Given the description of an element on the screen output the (x, y) to click on. 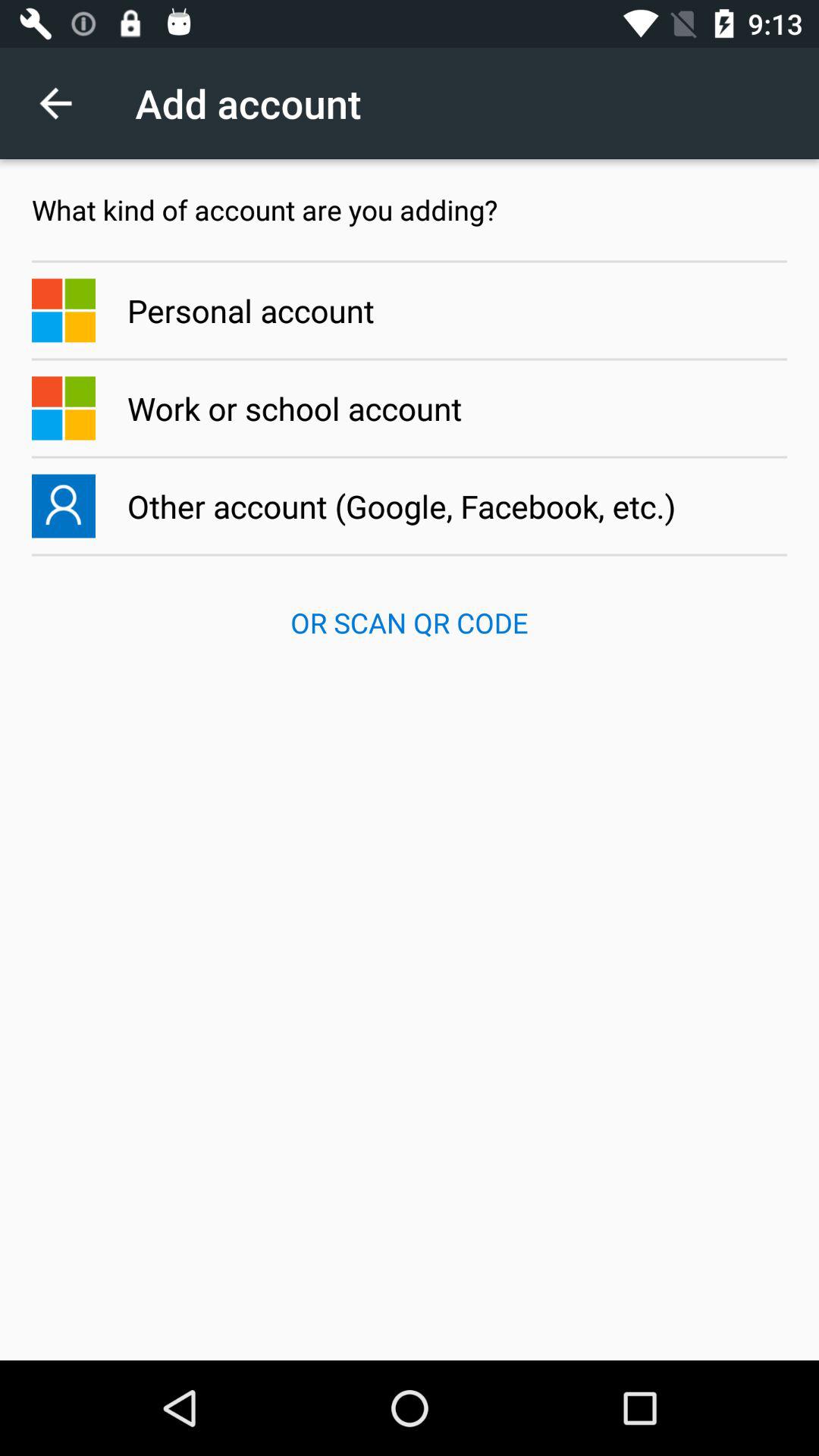
choose work or school button (409, 408)
